Given the description of an element on the screen output the (x, y) to click on. 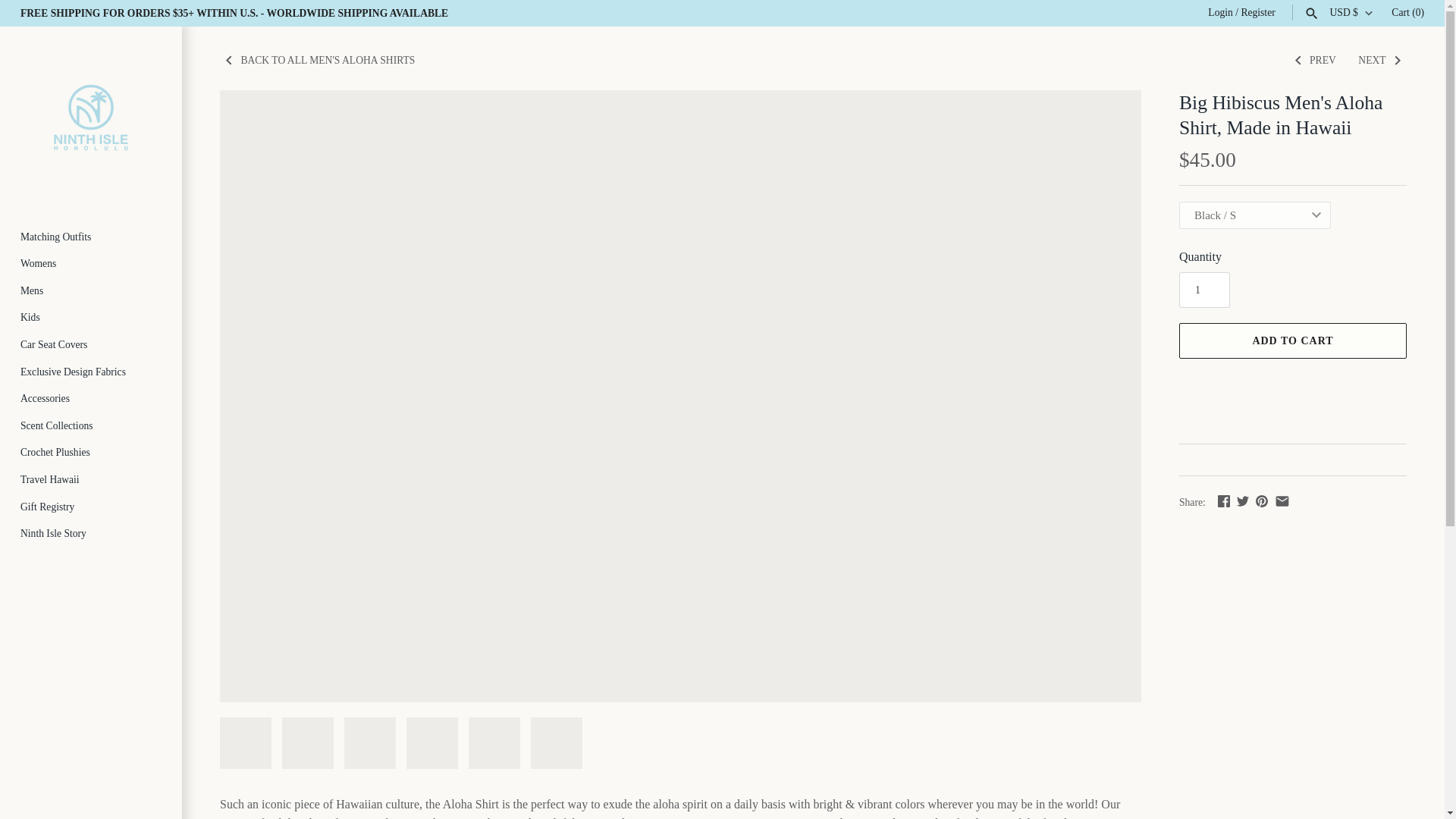
Pin the main image (1261, 500)
Register (1257, 12)
Email (1282, 500)
Ninth Isle (91, 117)
Share on Twitter (1242, 500)
LEFT (1297, 60)
Share on Facebook (1223, 500)
LEFT (228, 60)
Pinterest (1261, 500)
Twitter (1242, 500)
